Given the description of an element on the screen output the (x, y) to click on. 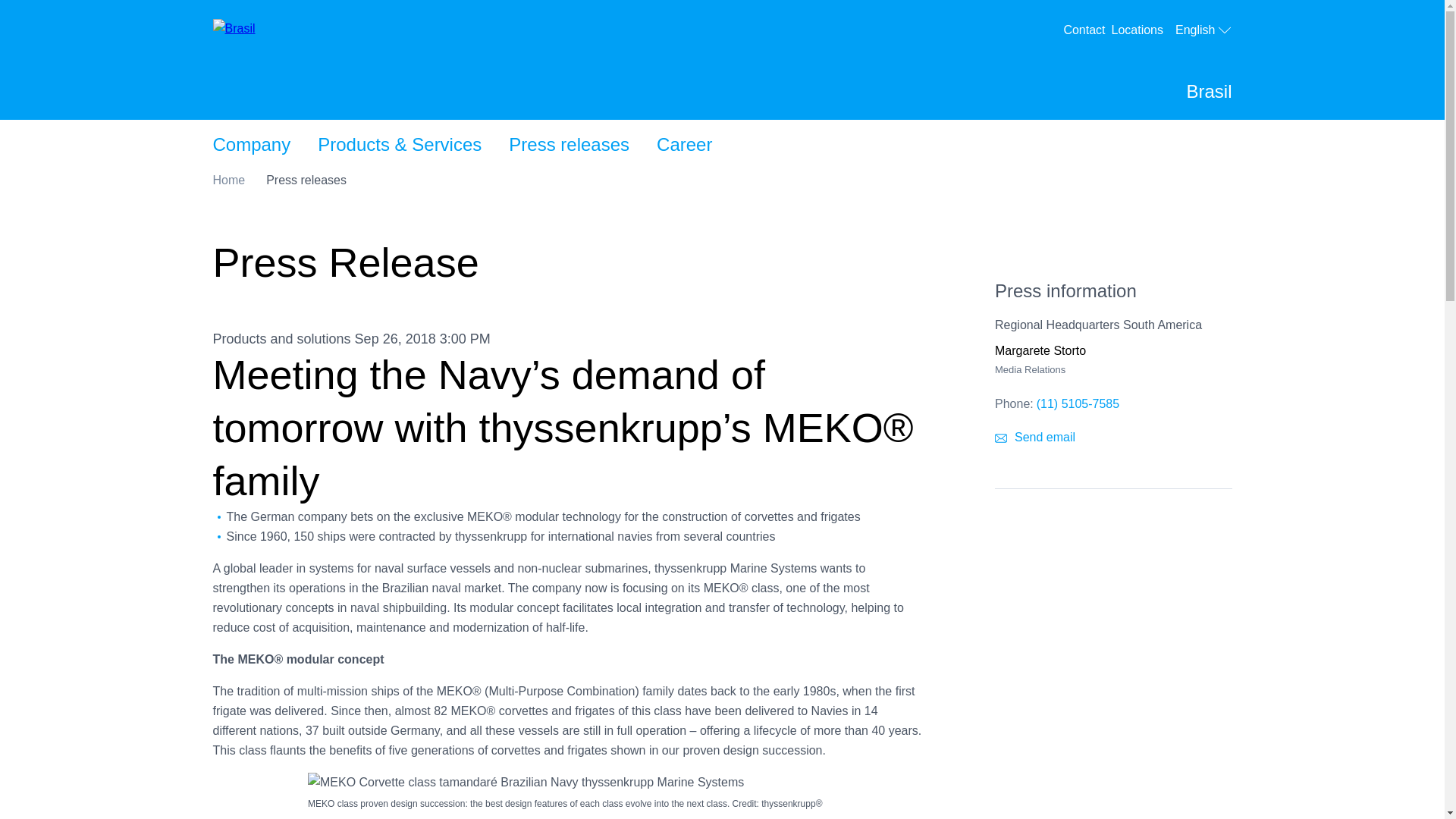
Press releases (569, 144)
arrow-down (1223, 30)
tk-mail (1000, 438)
Company (1202, 29)
Locations (251, 144)
Career (1141, 30)
Home (684, 144)
tk-mail Send email (228, 179)
Contact (1034, 436)
